Given the description of an element on the screen output the (x, y) to click on. 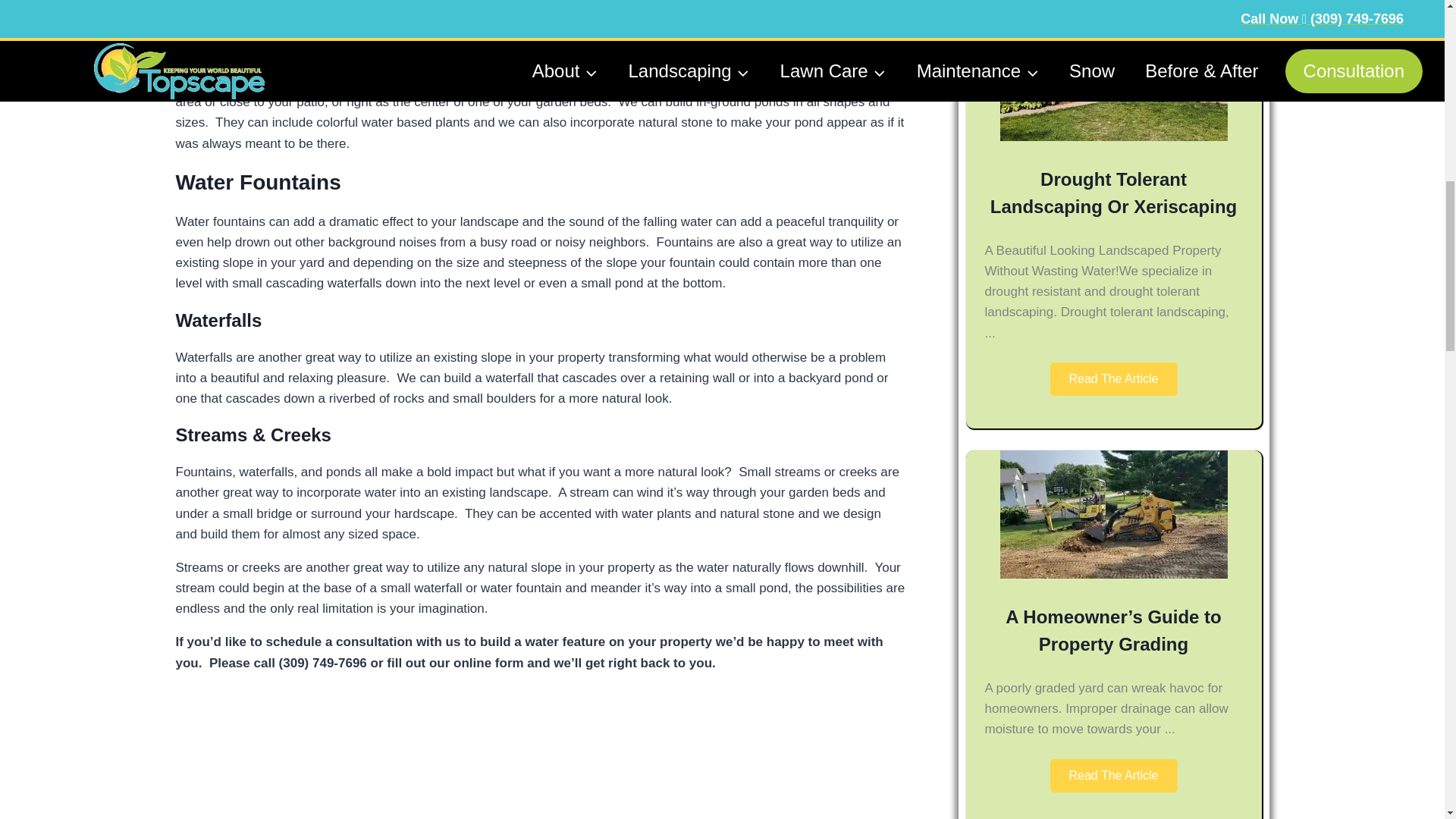
Read The Article (1112, 378)
Drought Tolerant Landscaping Or Xeriscaping (1112, 136)
Drought Tolerant Landscaping Or Xeriscaping (1113, 192)
Drought Tolerant Landscaping Or Xeriscaping (1113, 192)
